Given the description of an element on the screen output the (x, y) to click on. 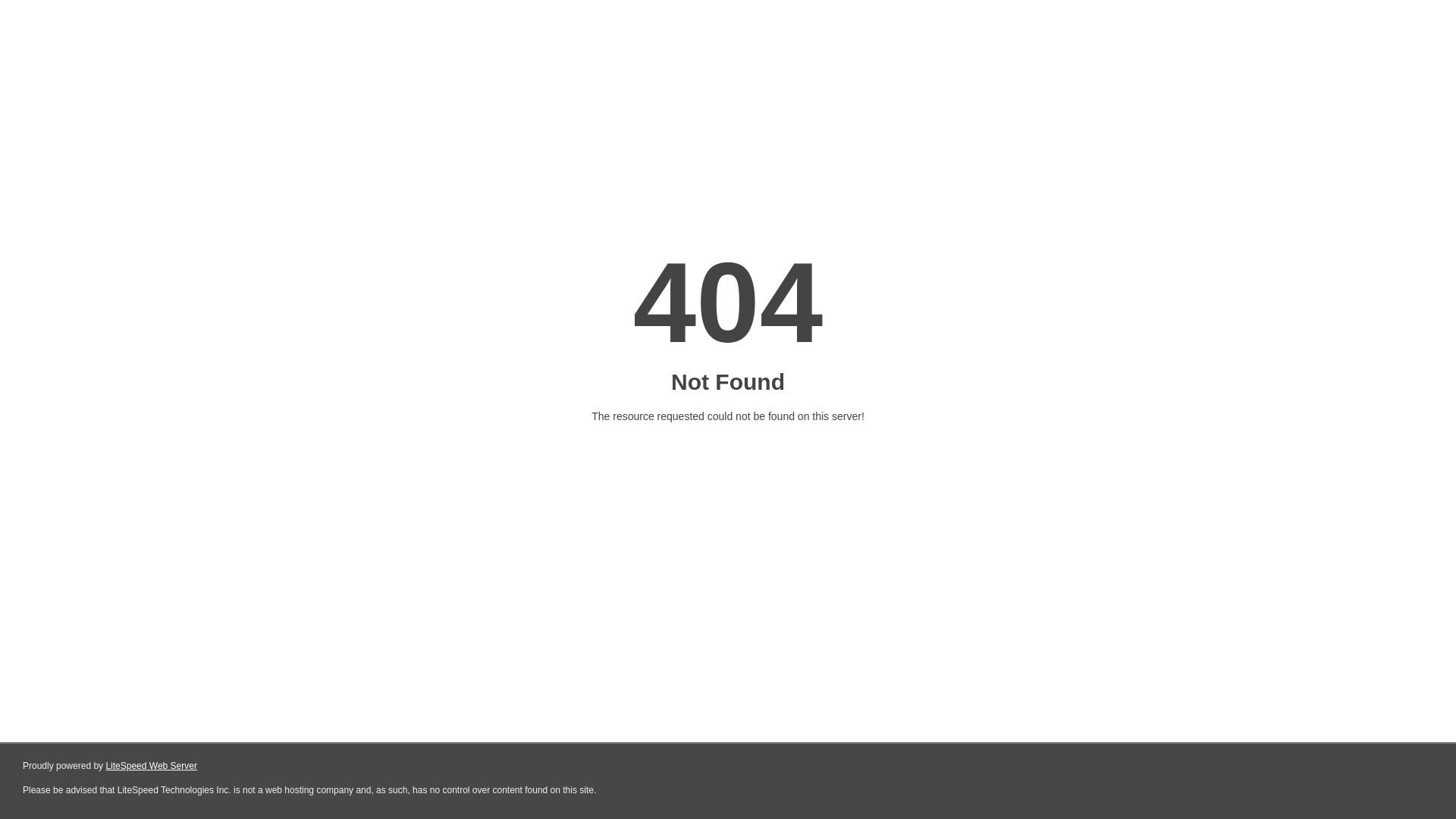
LiteSpeed Web Server Element type: text (151, 765)
